Given the description of an element on the screen output the (x, y) to click on. 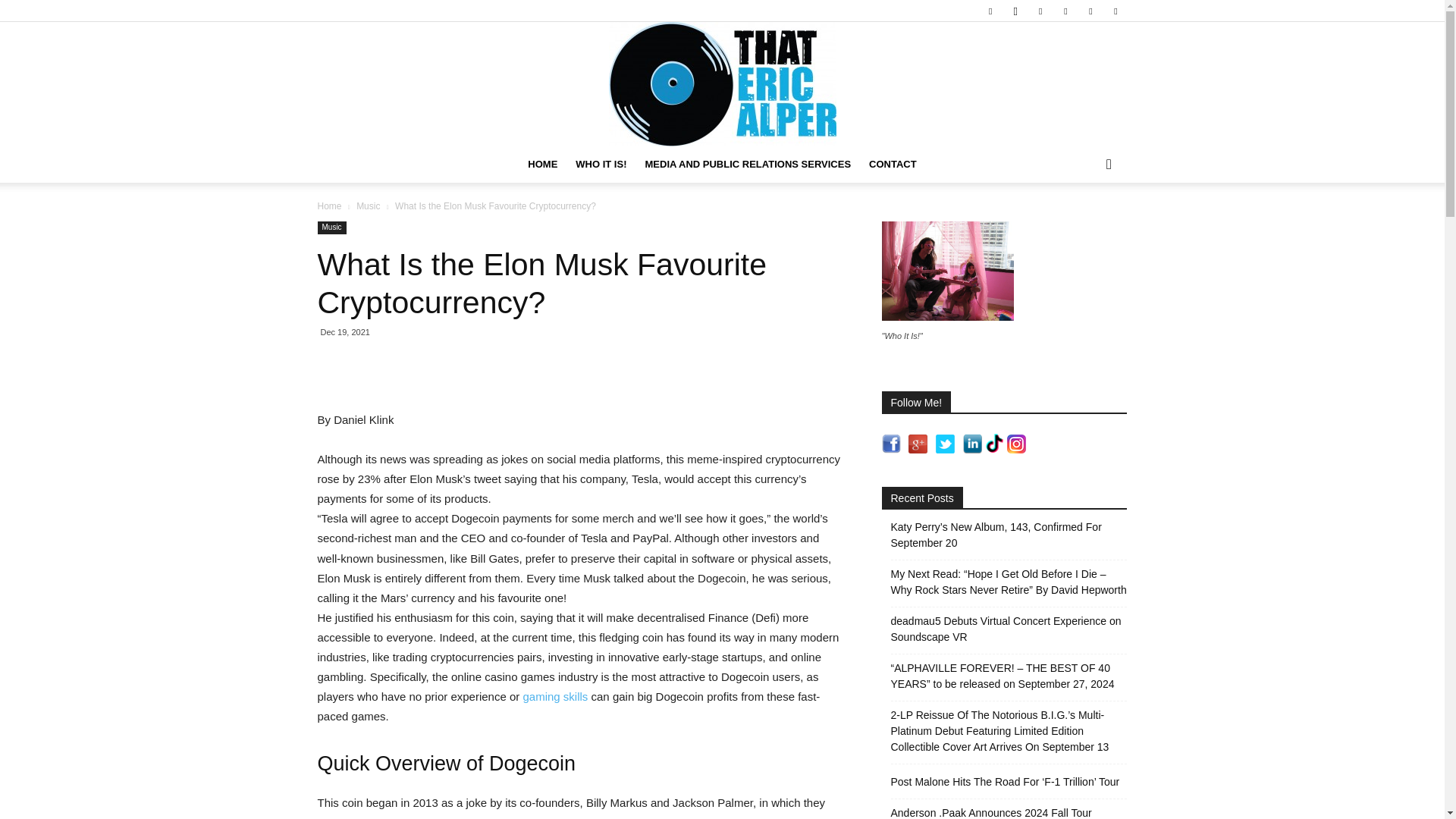
Twitter (1114, 10)
Music (331, 227)
MEDIA AND PUBLIC RELATIONS SERVICES (747, 164)
HOME (542, 164)
Search (1085, 224)
Facebook (989, 10)
TikTok (1090, 10)
Music (368, 205)
WHO IT IS! (600, 164)
Instagram (1015, 10)
